Given the description of an element on the screen output the (x, y) to click on. 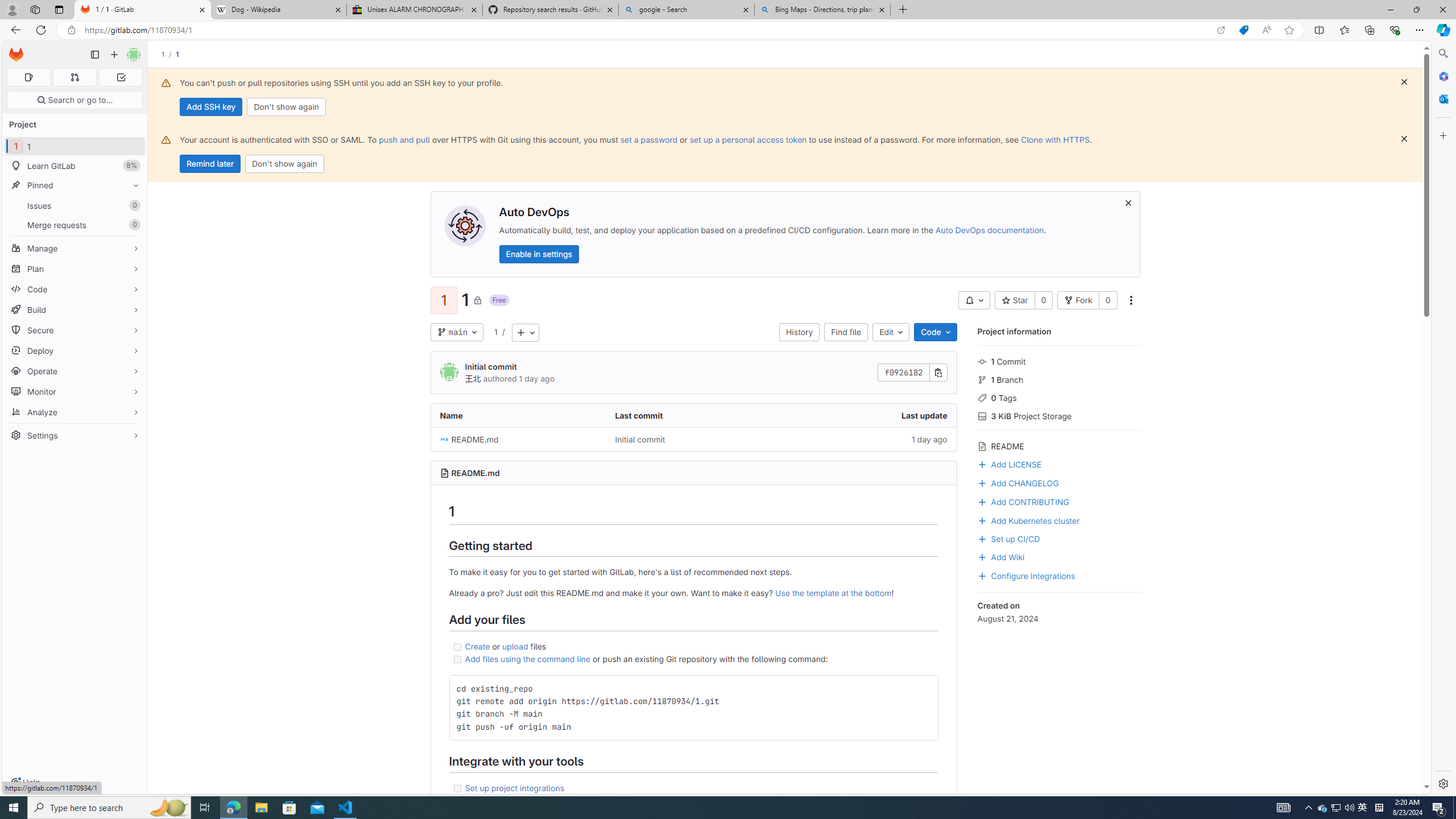
More actions (1130, 300)
1 Commit (1058, 360)
Create or upload files (693, 646)
1 Branch (1058, 378)
Issues0 (74, 205)
Remind later (210, 163)
Set up project integrations (693, 788)
Add SSH key (211, 106)
Set up project integrations (514, 787)
Configure Integrations (1025, 574)
